Given the description of an element on the screen output the (x, y) to click on. 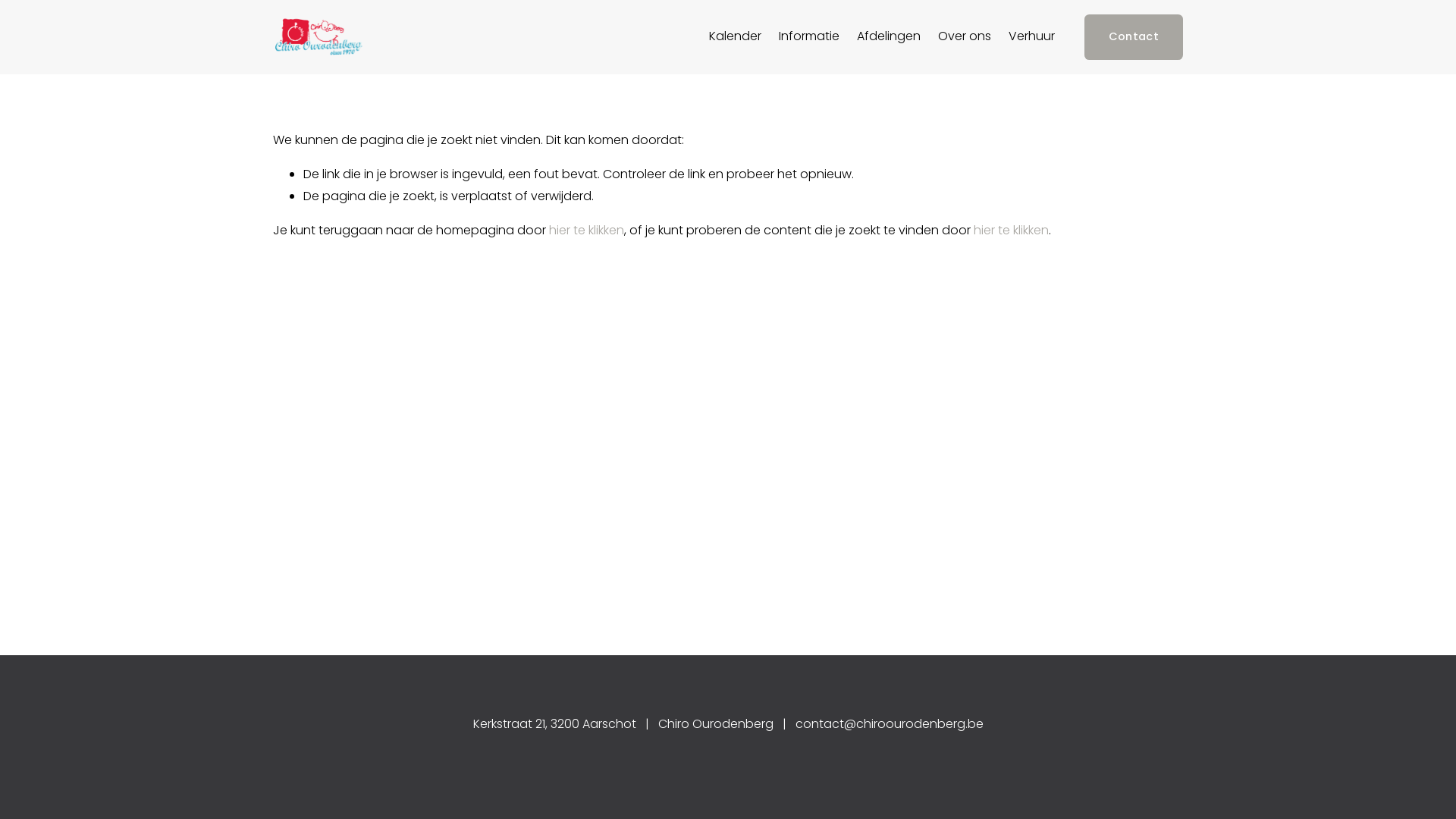
Informatie Element type: text (808, 37)
hier te klikken Element type: text (1010, 229)
Verhuur Element type: text (1031, 37)
Over ons Element type: text (964, 37)
Contact Element type: text (1133, 36)
Kalender Element type: text (735, 37)
hier te klikken Element type: text (586, 229)
Afdelingen Element type: text (888, 37)
